Given the description of an element on the screen output the (x, y) to click on. 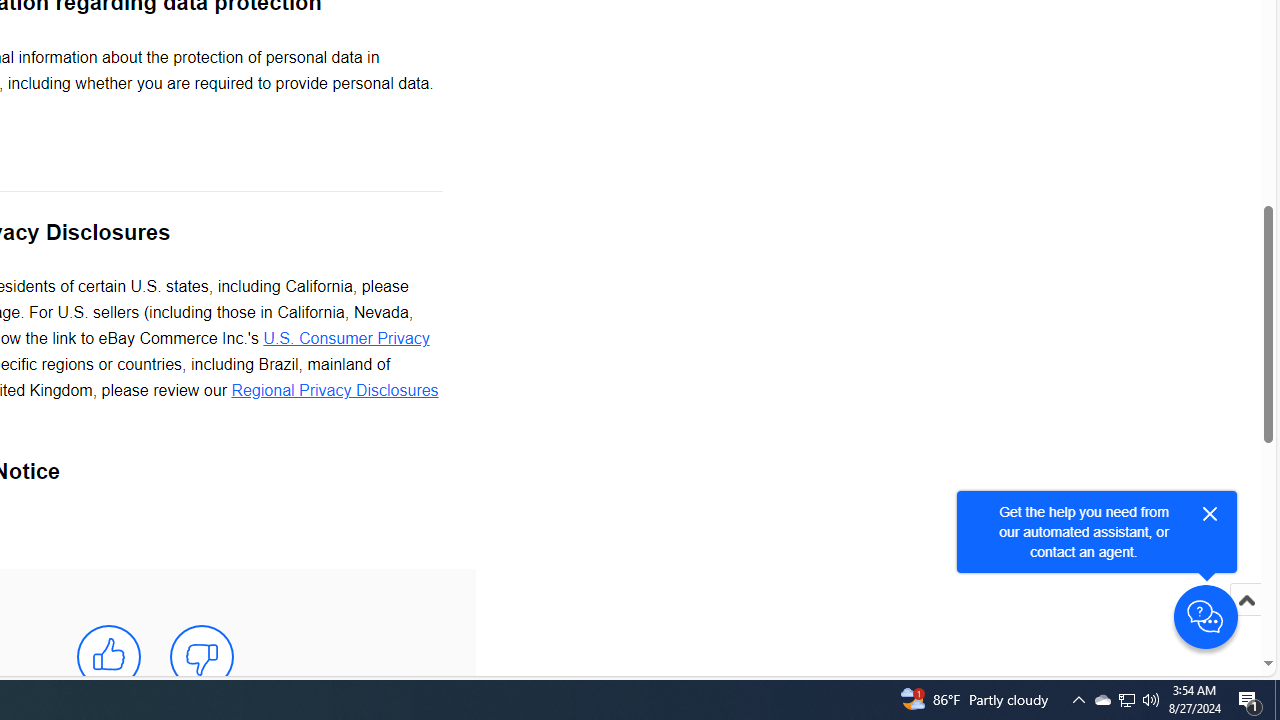
Scroll to top (1246, 599)
Regional Privacy Disclosures - opens in new window or tab (334, 391)
mark this article not helpful (201, 656)
mark this article helpful (108, 656)
Scroll to top (1246, 620)
